Given the description of an element on the screen output the (x, y) to click on. 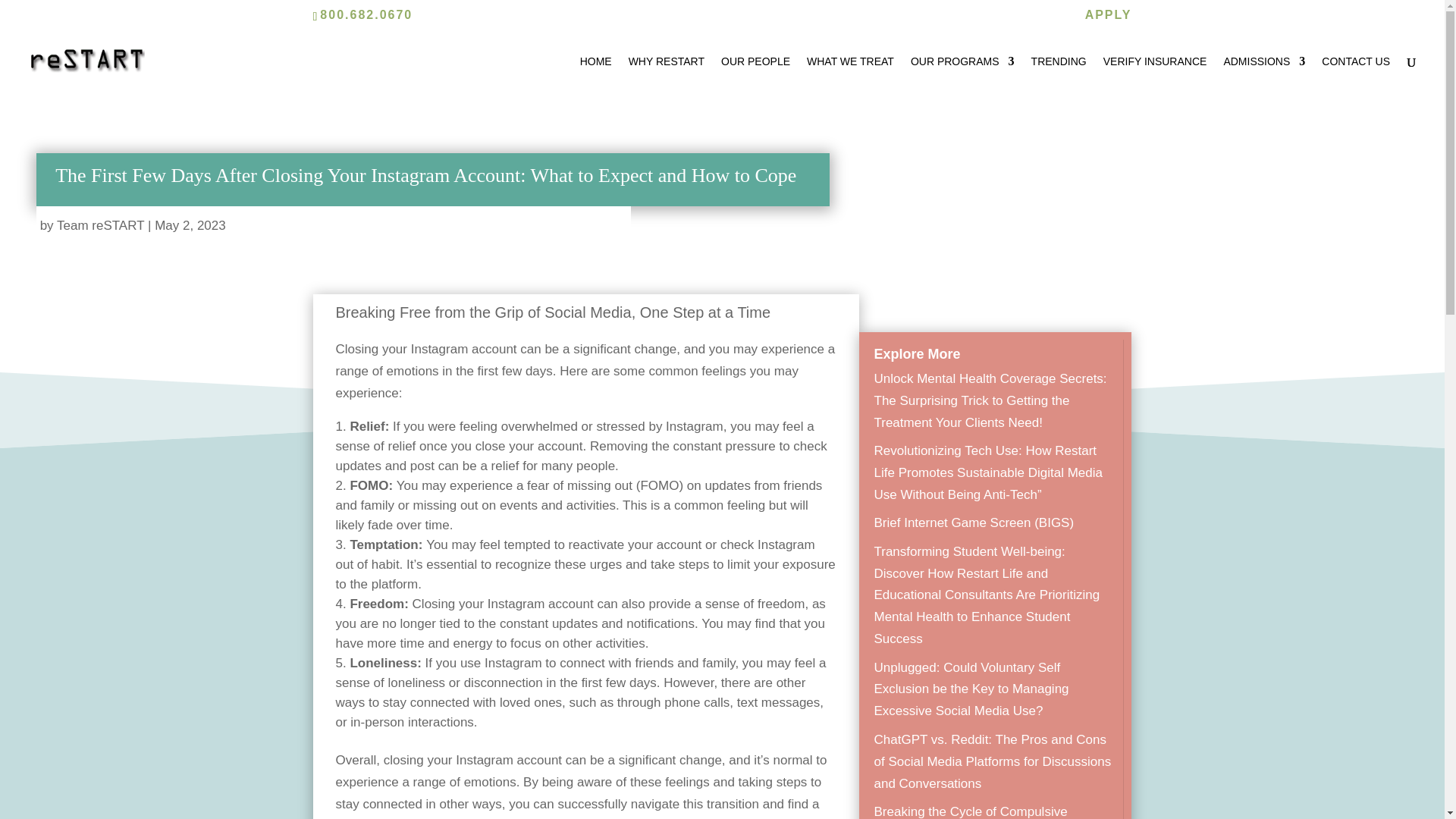
CONTACT US (1356, 73)
HOME (595, 73)
WHY RESTART (666, 73)
Posts by Team reSTART (100, 225)
VERIFY INSURANCE (1155, 73)
OUR PROGRAMS (962, 73)
WHAT WE TREAT (849, 73)
TRENDING (1058, 73)
OUR PEOPLE (755, 73)
ADMISSIONS (1263, 73)
